Given the description of an element on the screen output the (x, y) to click on. 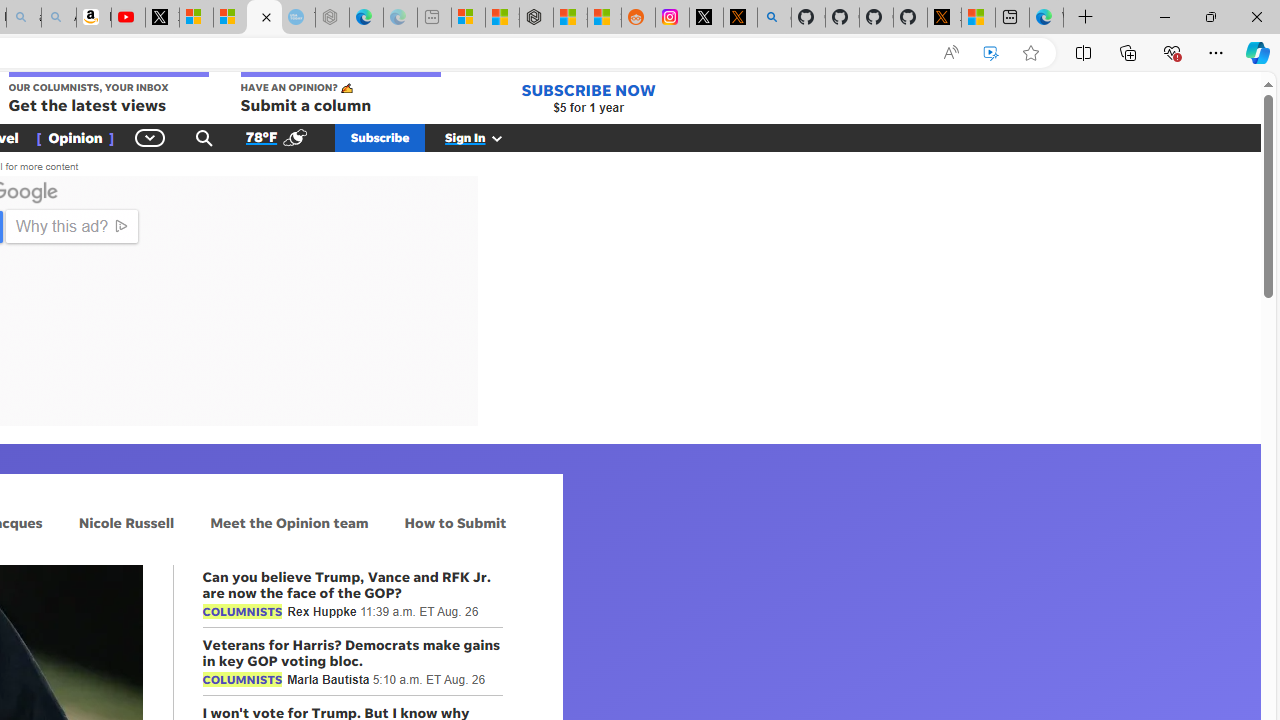
Class: gnt_n_dd_bt_svg (150, 137)
Open (400, 385)
Class: gnt_n_se_a_svg (204, 137)
AutomationID: cbb (468, 184)
Register for TRF North Asia (195, 237)
SUBSCRIBE NOW $5 for 1 year (588, 97)
